Given the description of an element on the screen output the (x, y) to click on. 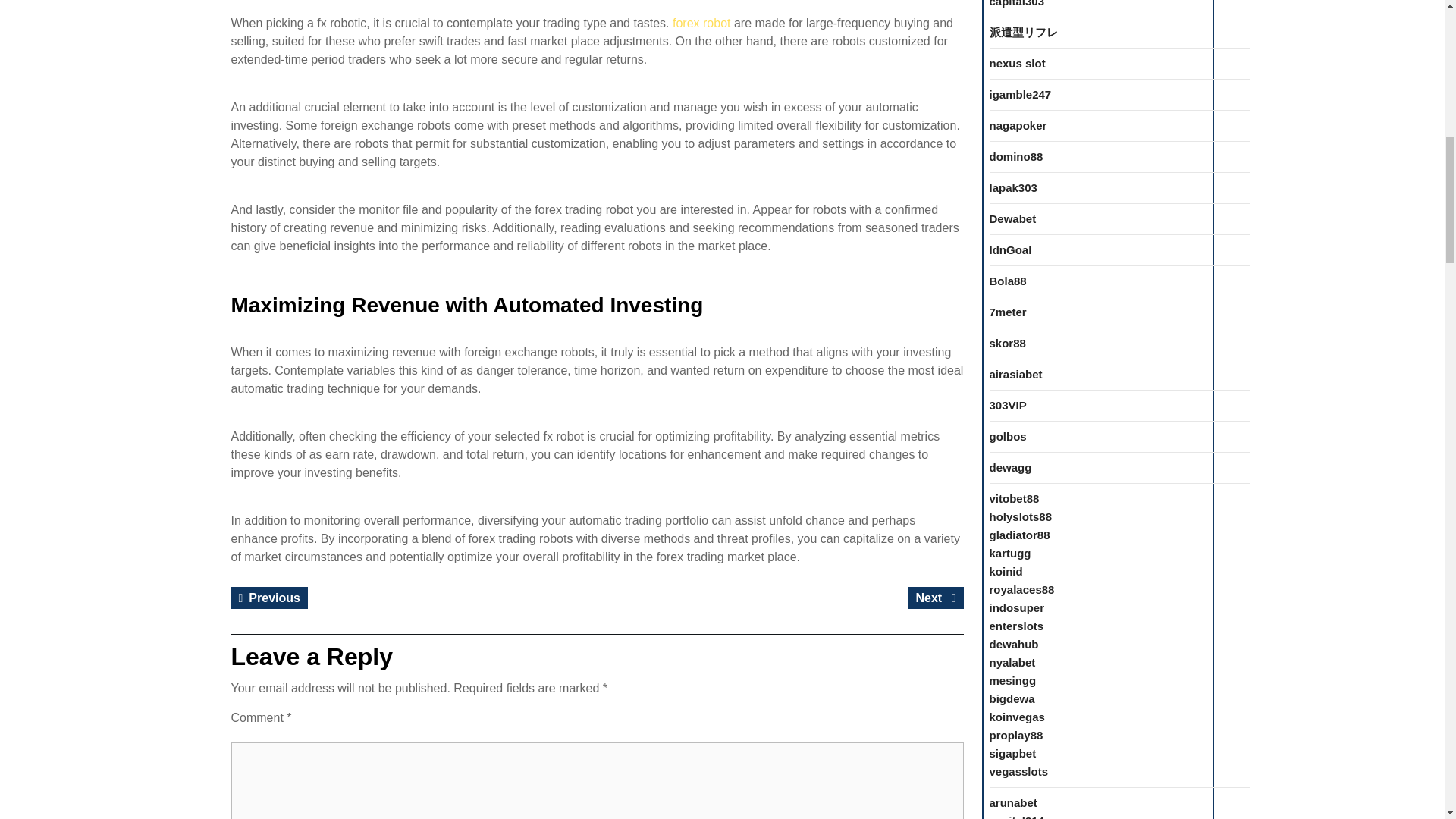
capital303 (1015, 3)
igamble247 (268, 598)
domino88 (1019, 93)
forex robot (1015, 155)
nexus slot (701, 22)
nagapoker (1016, 62)
lapak303 (1017, 124)
